Given the description of an element on the screen output the (x, y) to click on. 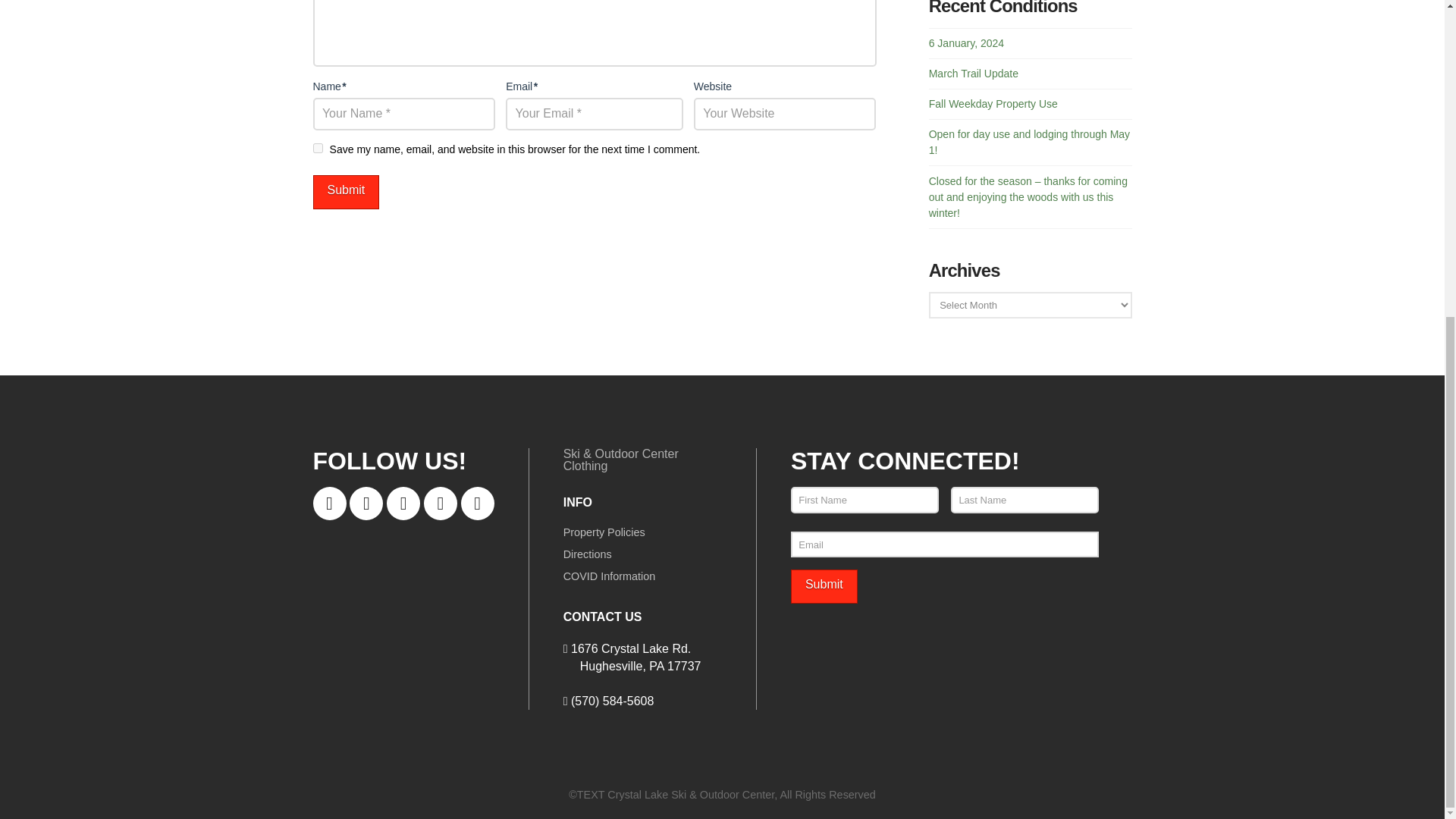
COVID Information (609, 581)
Submit (823, 586)
Directions (587, 559)
yes (317, 148)
6 January, 2024 (966, 42)
Submit (823, 586)
Open for day use and lodging through May 1! (1028, 141)
Submit (345, 192)
Fall Weekday Property Use (993, 103)
March Trail Update (972, 73)
